Given the description of an element on the screen output the (x, y) to click on. 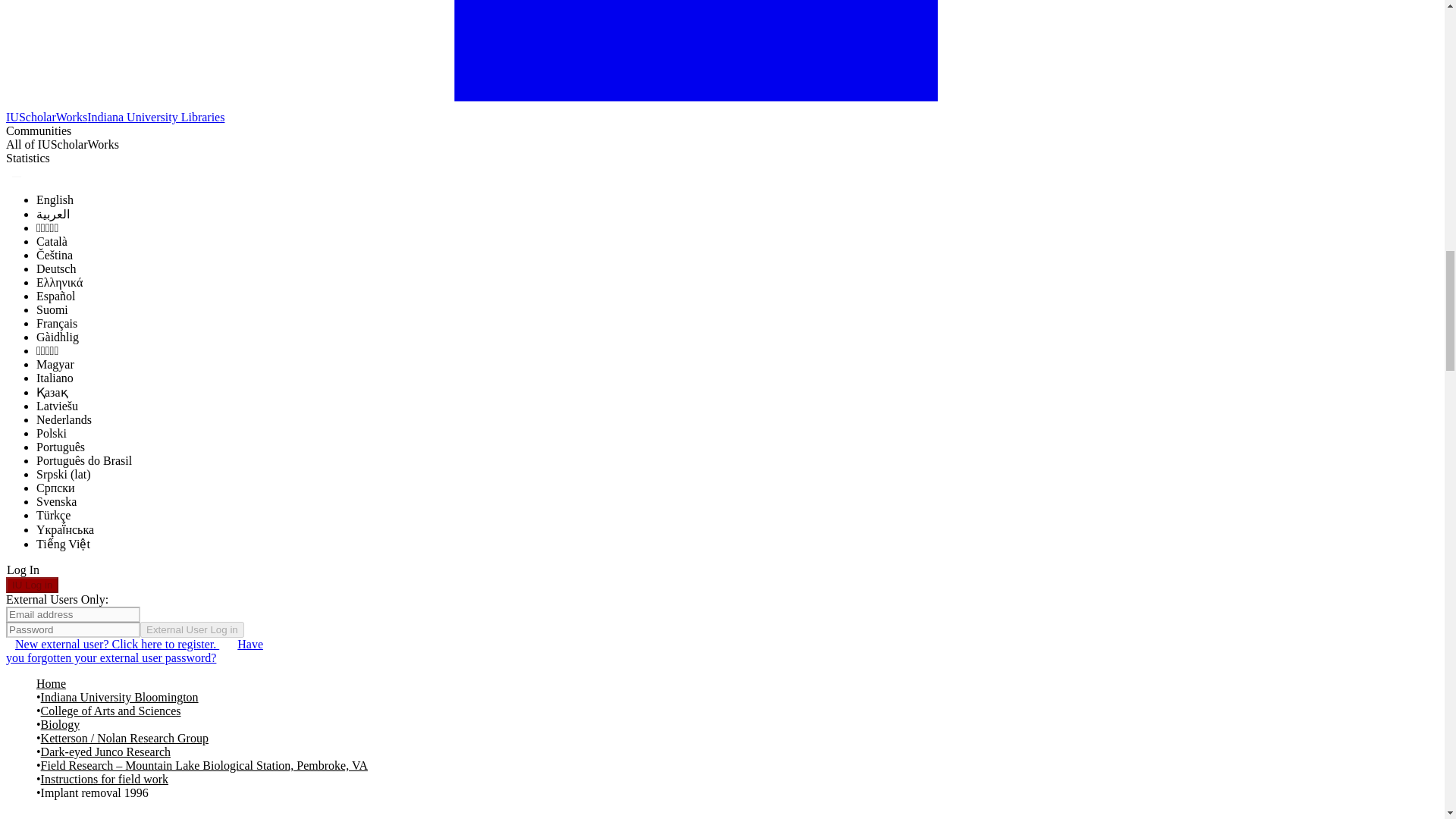
IU Log in (31, 584)
Statistics (27, 158)
College of Arts and Sciences (110, 711)
Biology (60, 725)
Home (50, 684)
Instructions for field work (104, 779)
All of IUScholarWorks (62, 144)
Dark-eyed Junco Research (105, 752)
New external user? Click here to register. (116, 643)
Indiana University Bloomington (119, 697)
Communities (38, 131)
Log In (22, 569)
Have you forgotten your external user password? (134, 650)
External User Log in (191, 629)
